Given the description of an element on the screen output the (x, y) to click on. 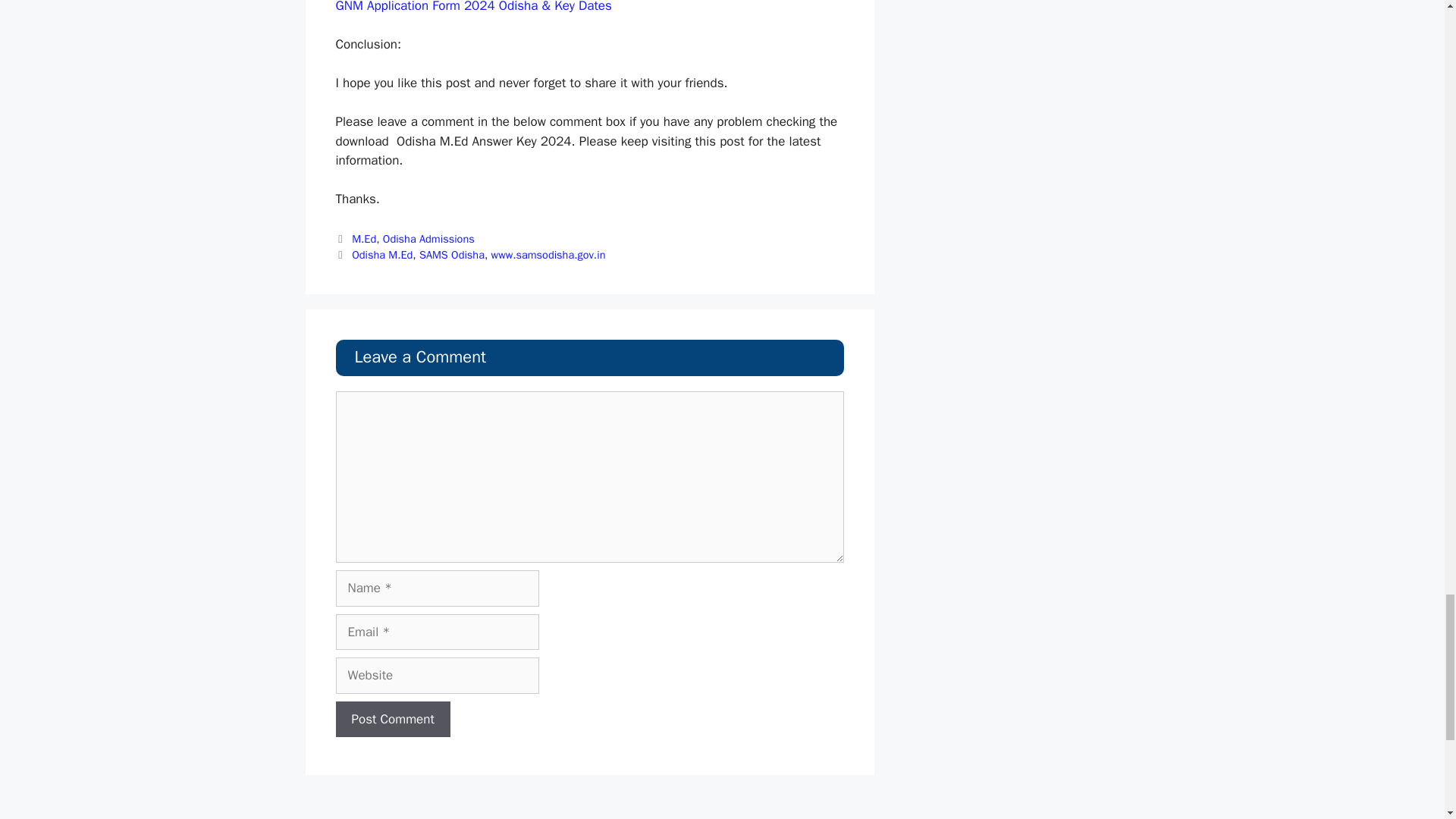
Post Comment (391, 719)
